Given the description of an element on the screen output the (x, y) to click on. 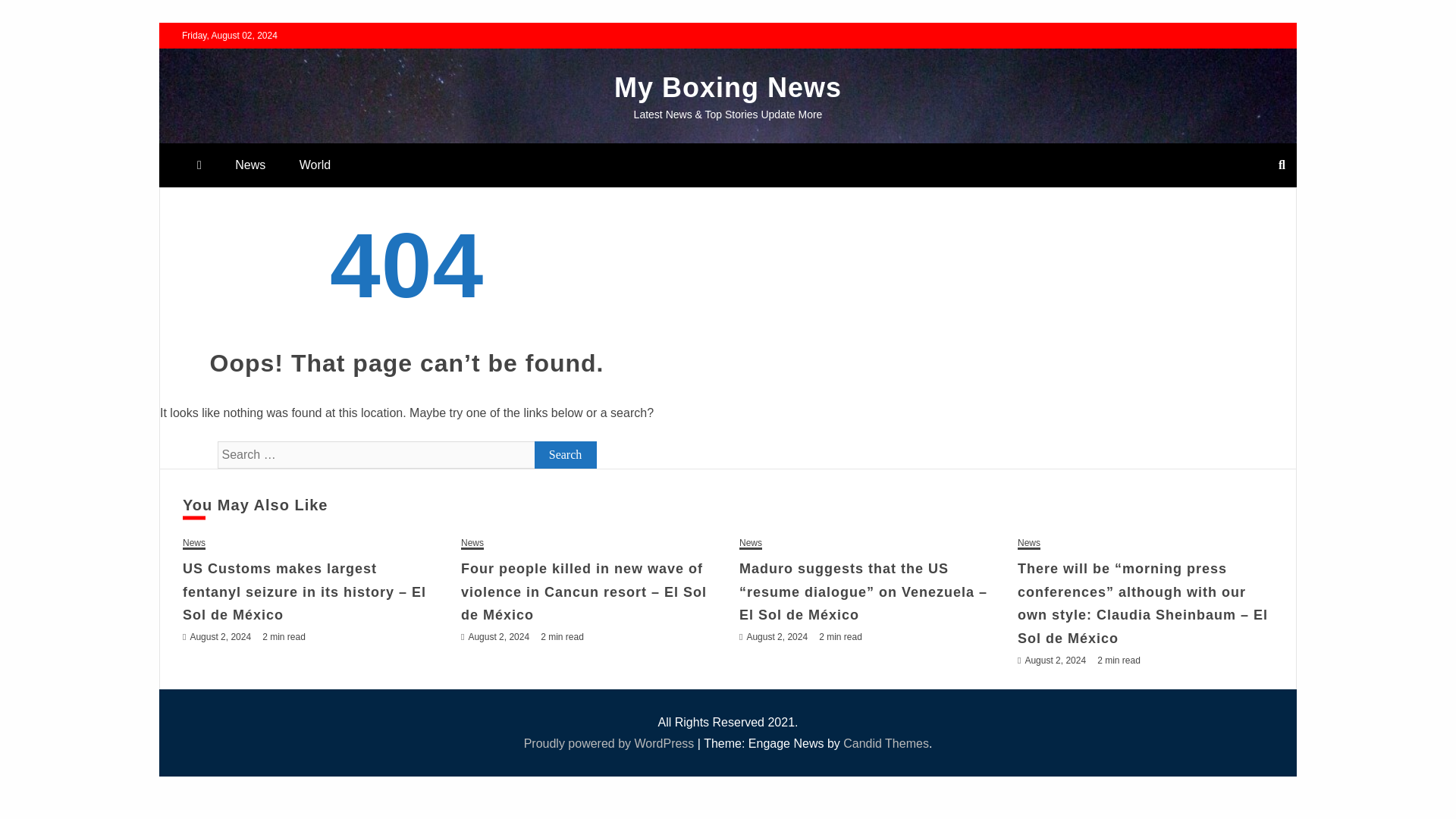
News (250, 164)
Proudly powered by WordPress (610, 743)
Search (565, 454)
August 2, 2024 (1055, 660)
News (750, 543)
News (1029, 543)
Candid Themes (885, 743)
Search (31, 13)
August 2, 2024 (219, 636)
August 2, 2024 (498, 636)
News (194, 543)
August 2, 2024 (776, 636)
News (472, 543)
Search (565, 454)
